Given the description of an element on the screen output the (x, y) to click on. 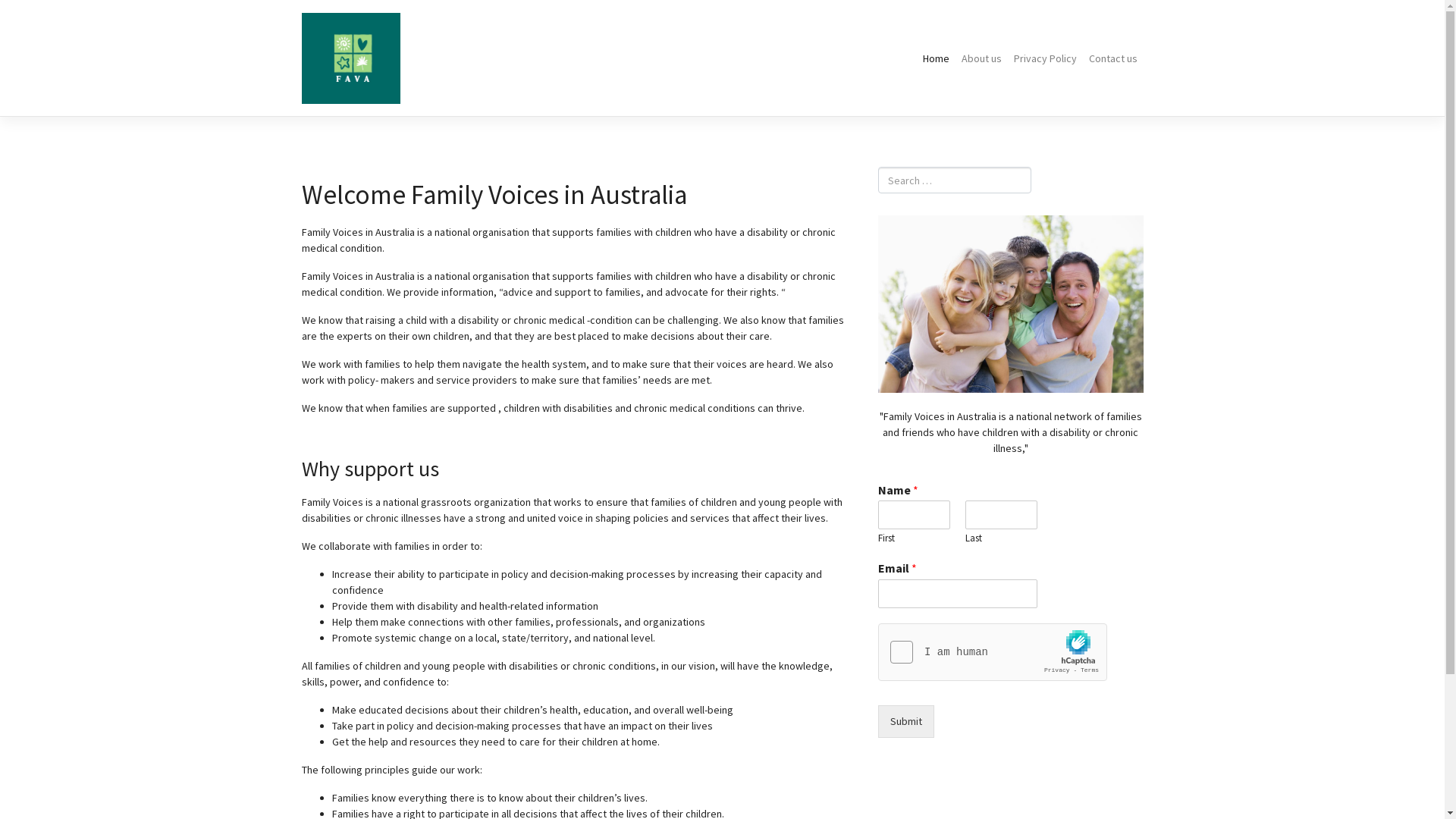
Widget containing checkbox for hCaptcha security challenge Element type: hover (992, 652)
Privacy Policy Element type: text (1044, 58)
Search for: Element type: hover (954, 179)
About us Element type: text (981, 58)
Submit Element type: text (906, 721)
Contact us Element type: text (1112, 58)
Search Element type: text (26, 12)
Home Element type: text (935, 58)
